Given the description of an element on the screen output the (x, y) to click on. 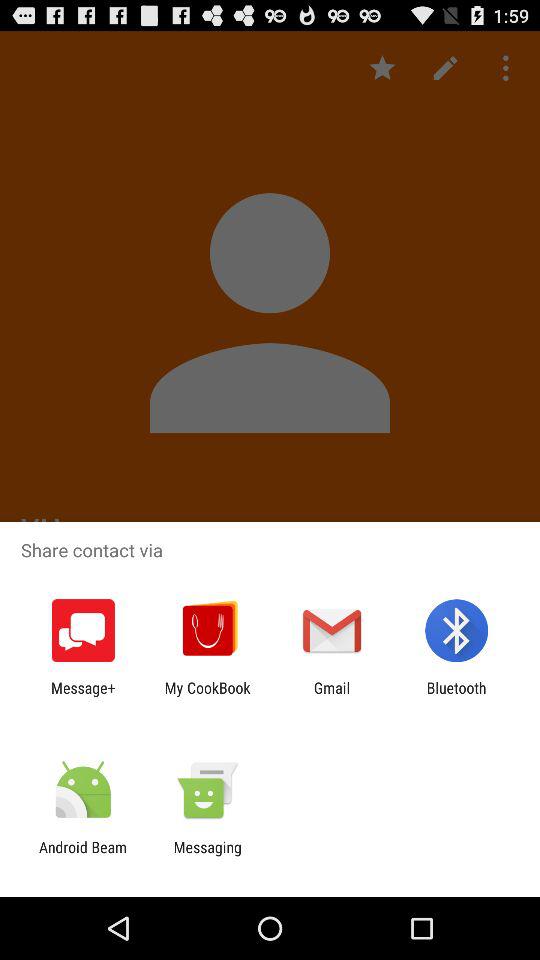
launch the gmail item (331, 696)
